Given the description of an element on the screen output the (x, y) to click on. 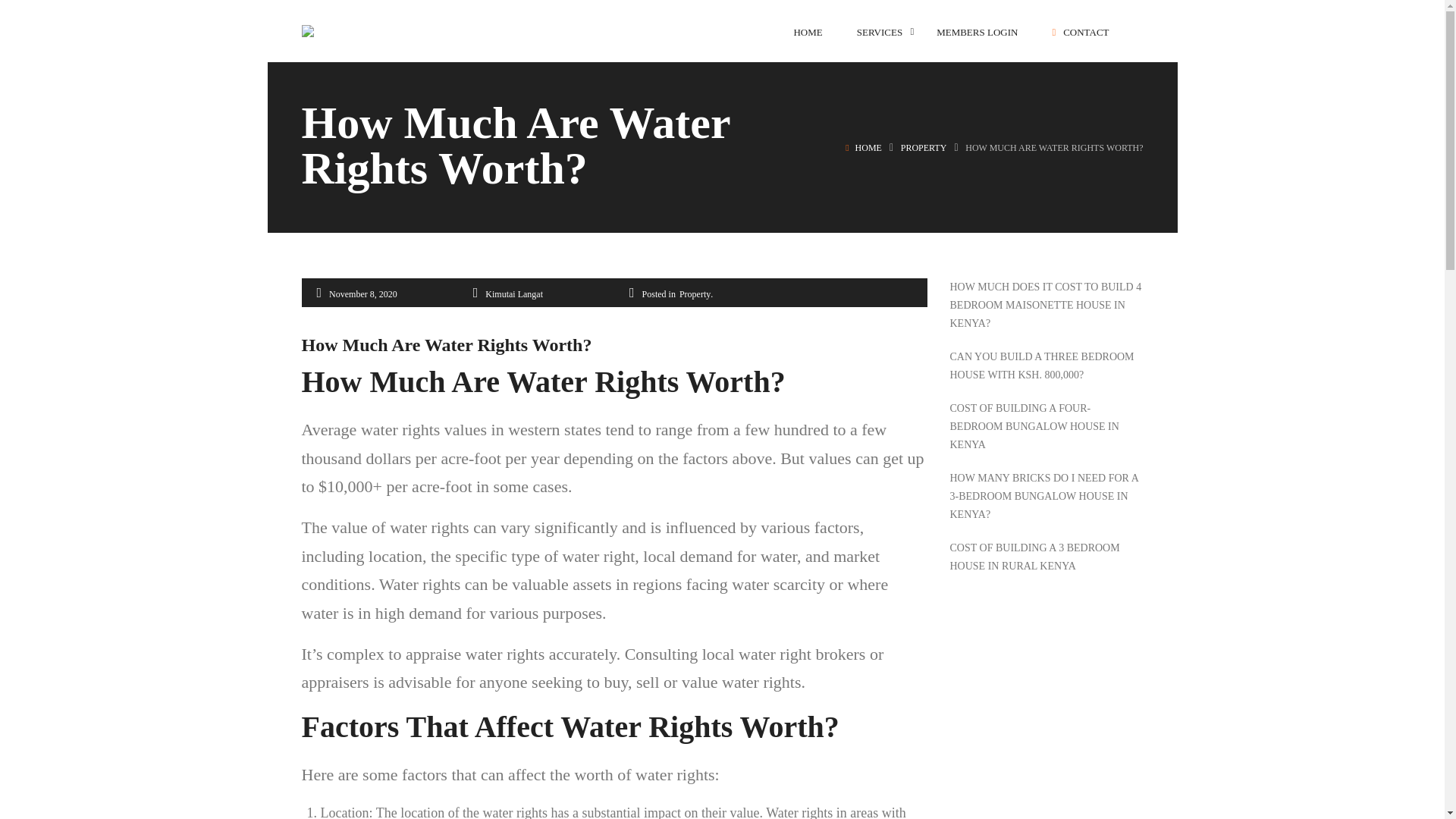
Property (694, 294)
November 8, 2020 (363, 294)
CAN YOU BUILD A THREE BEDROOM HOUSE WITH KSH. 800,000? (1045, 366)
SERVICES (879, 31)
MEMBERS LOGIN (976, 31)
Property (924, 147)
Property (694, 294)
CONTACT (1079, 31)
PROPERTY (924, 147)
HOME (807, 31)
HOME (869, 147)
COST OF BUILDING A FOUR-BEDROOM BUNGALOW HOUSE IN KENYA (1045, 426)
Kimutai Langat (513, 294)
